Given the description of an element on the screen output the (x, y) to click on. 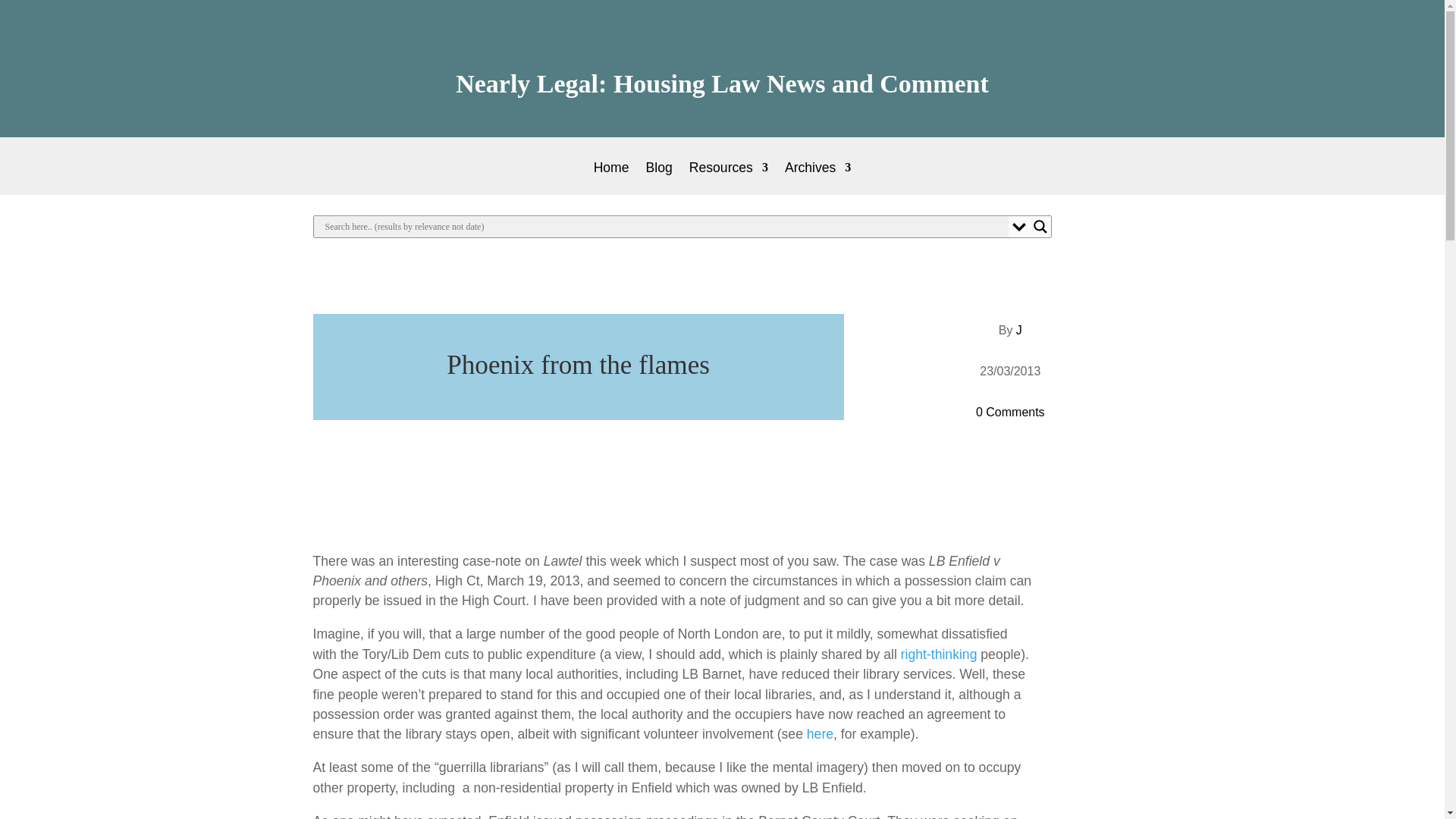
Resources (728, 178)
Home (611, 178)
Archives (817, 178)
